Given the description of an element on the screen output the (x, y) to click on. 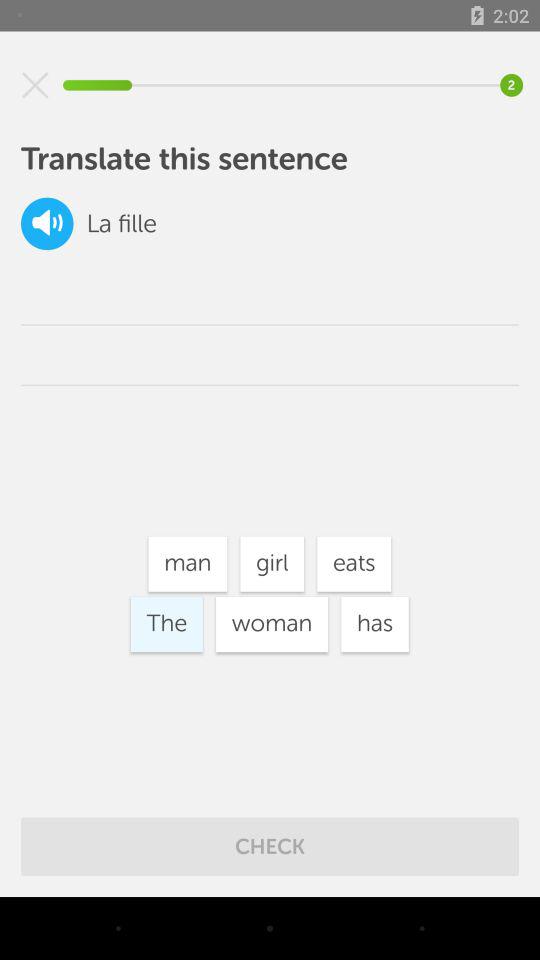
turn on the icon next to girl (187, 563)
